Given the description of an element on the screen output the (x, y) to click on. 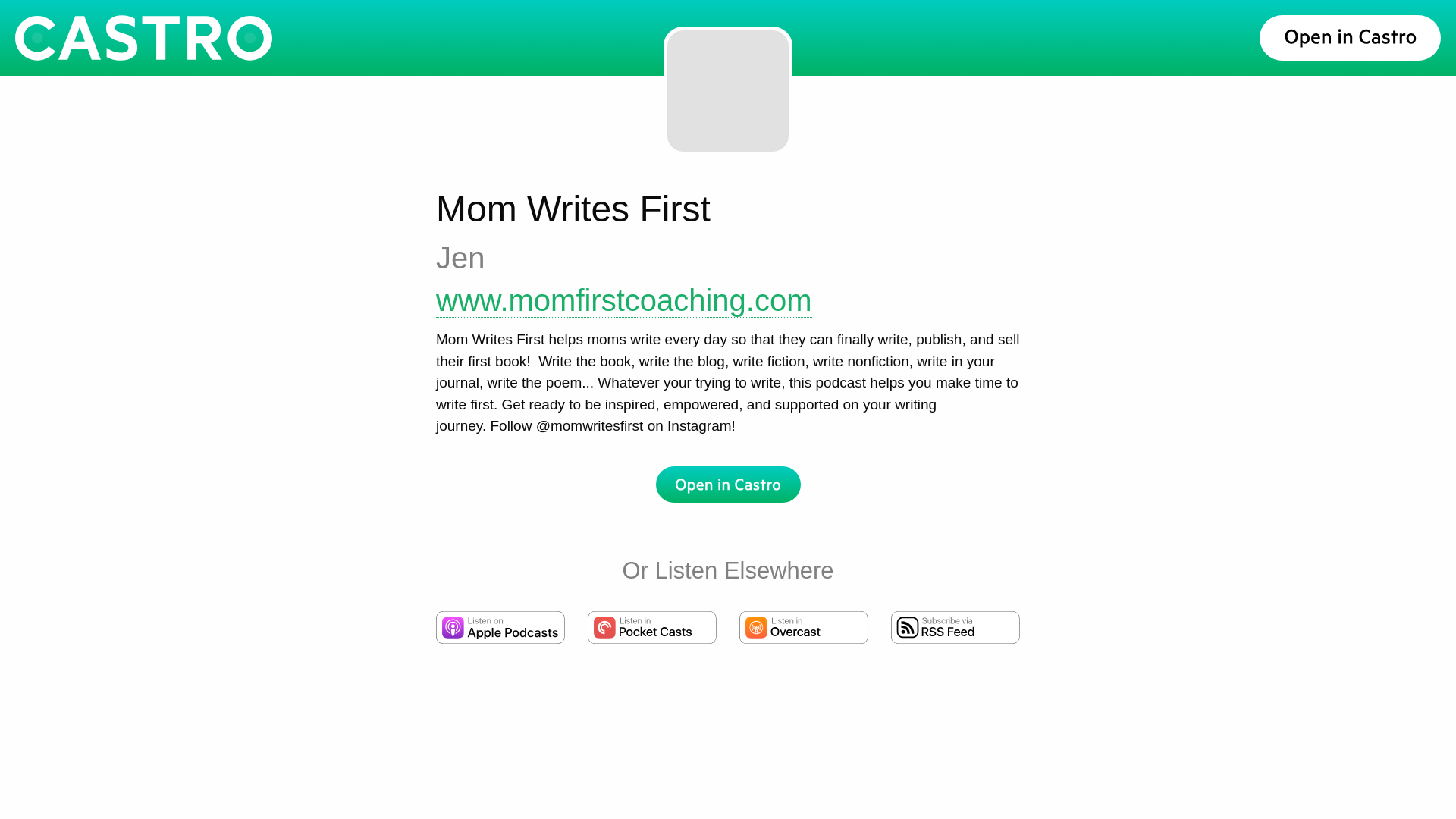
www.momfirstcoaching.com (623, 300)
